Given the description of an element on the screen output the (x, y) to click on. 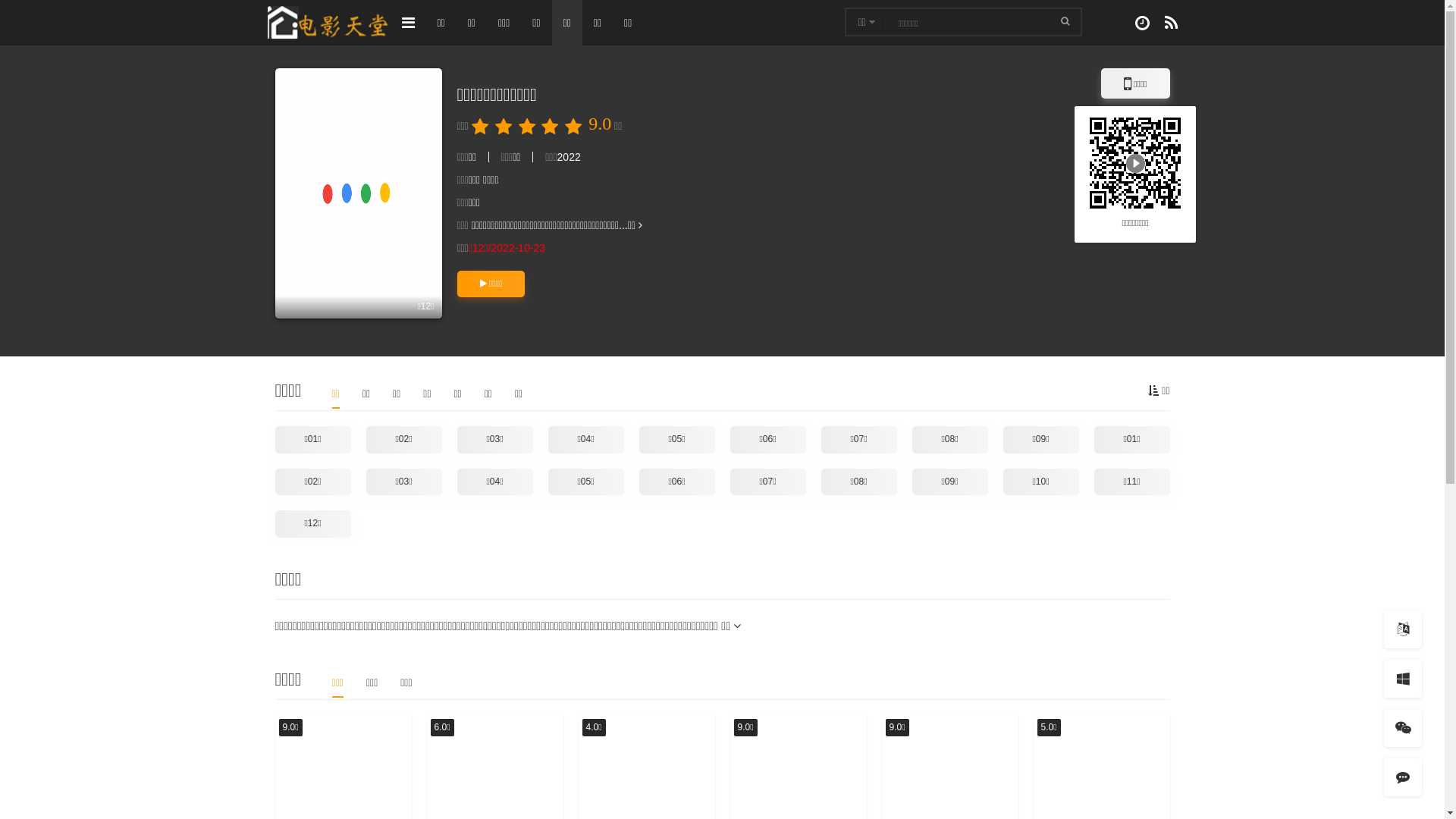
2022 Element type: text (568, 156)
http://www.goaw.cc/ddvwk/145514.html Element type: hover (1134, 161)
